Given the description of an element on the screen output the (x, y) to click on. 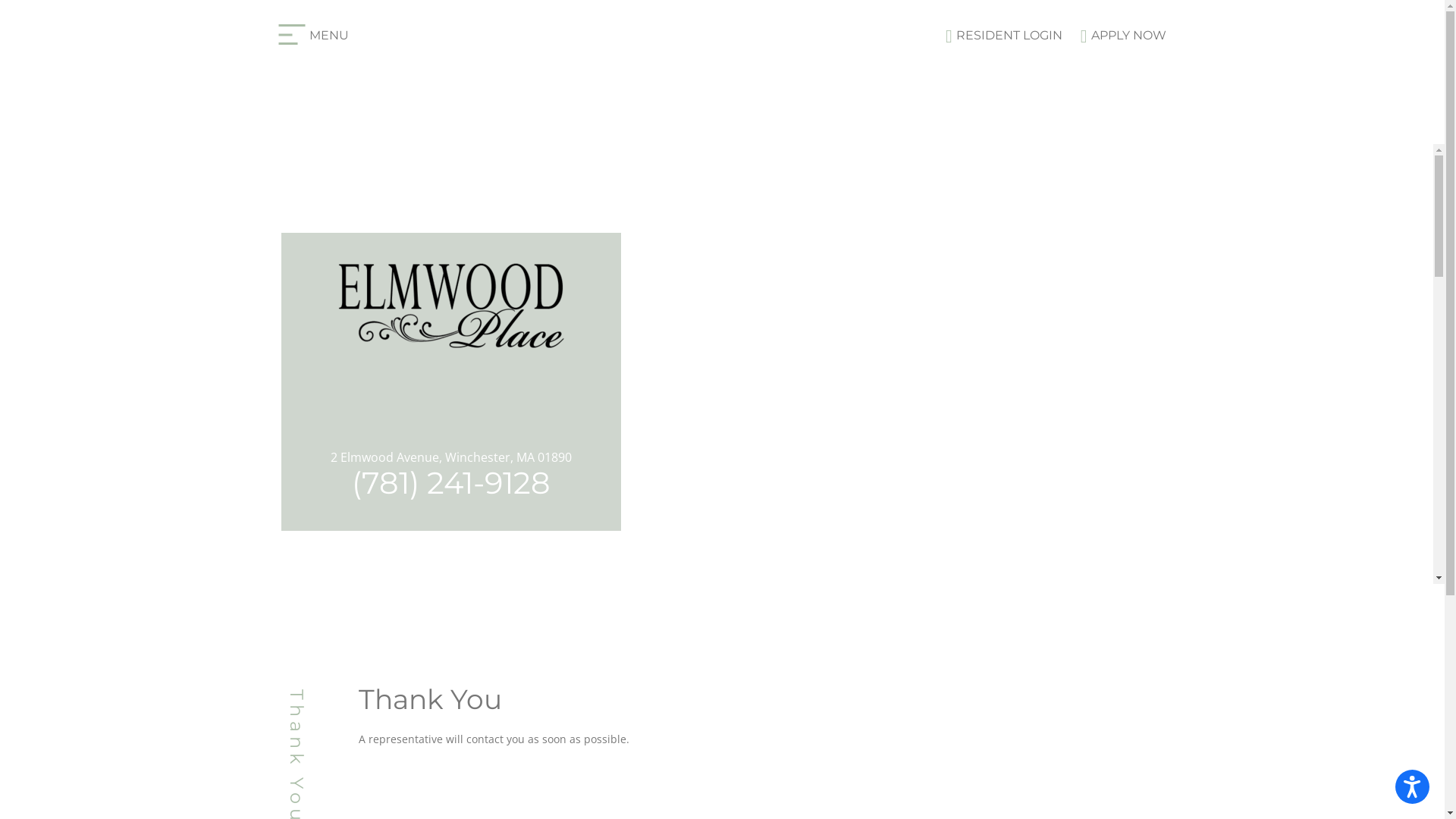
RESIDENT LOGIN Element type: text (996, 35)
(781) 241-9128 Element type: text (450, 482)
APPLY NOW Element type: text (1115, 35)
